Given the description of an element on the screen output the (x, y) to click on. 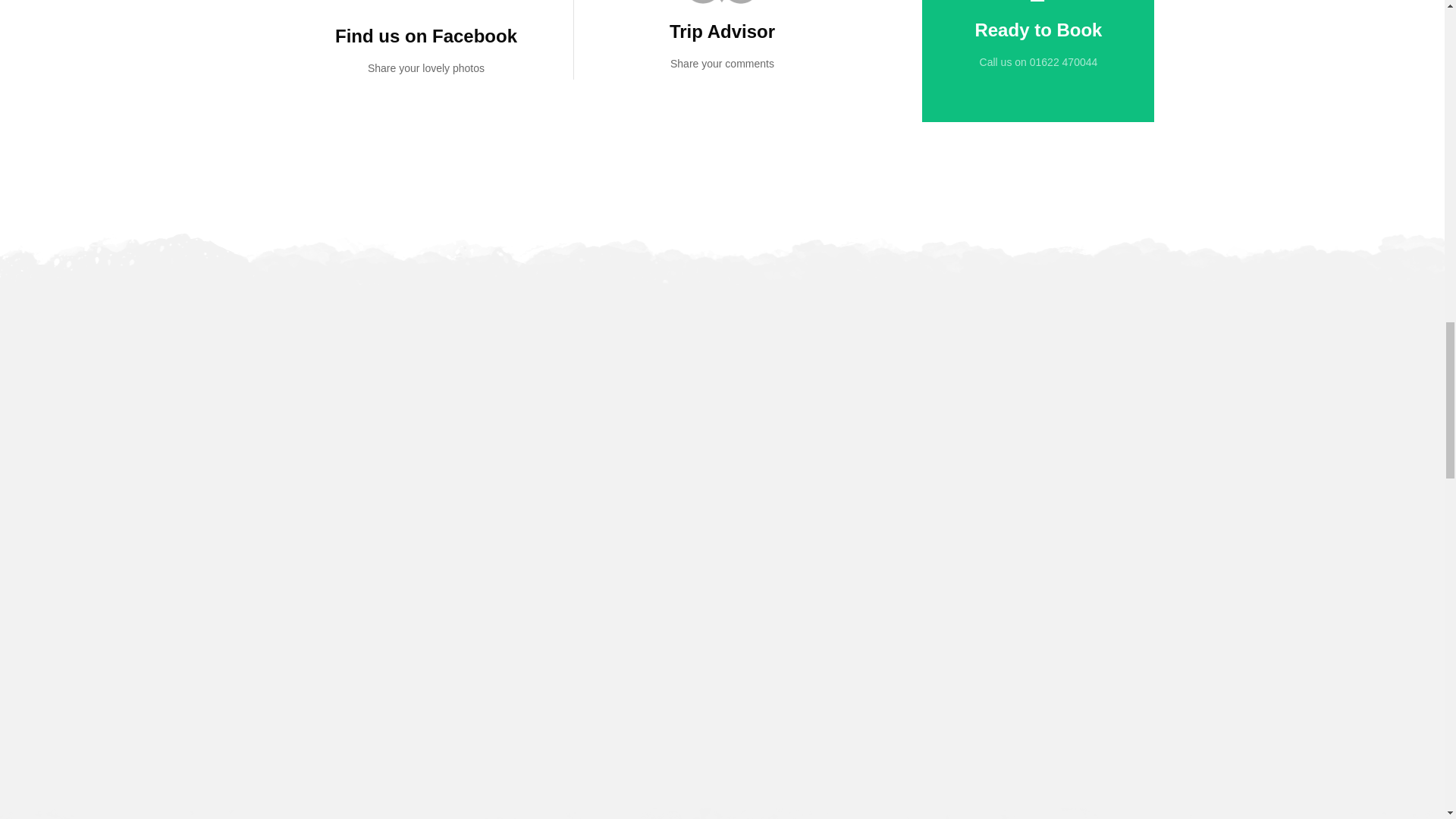
48942 (722, 3)
